Given the description of an element on the screen output the (x, y) to click on. 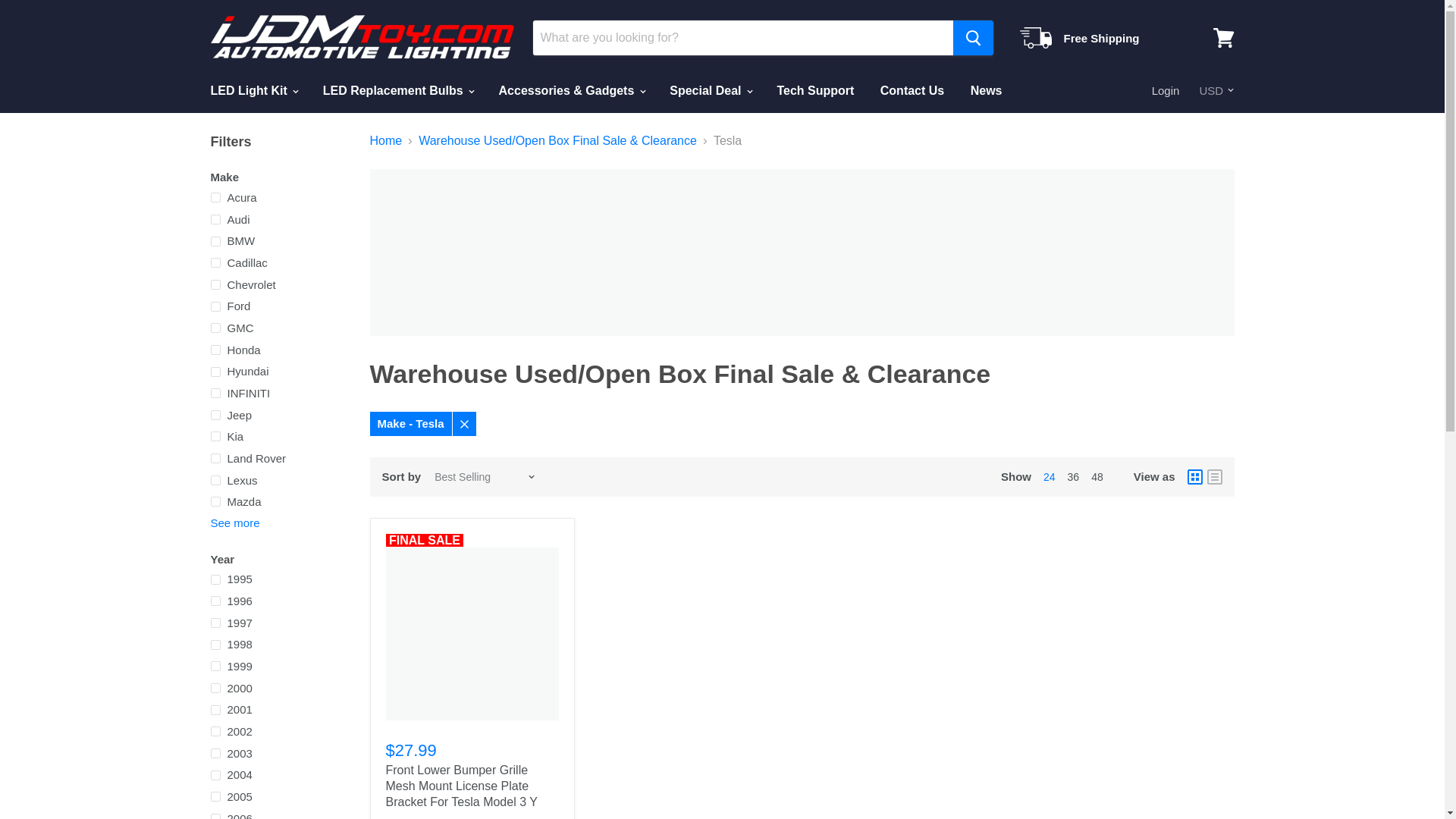
View cart (1223, 37)
LED Replacement Bulbs (397, 91)
LED Light Kit (252, 91)
